Given the description of an element on the screen output the (x, y) to click on. 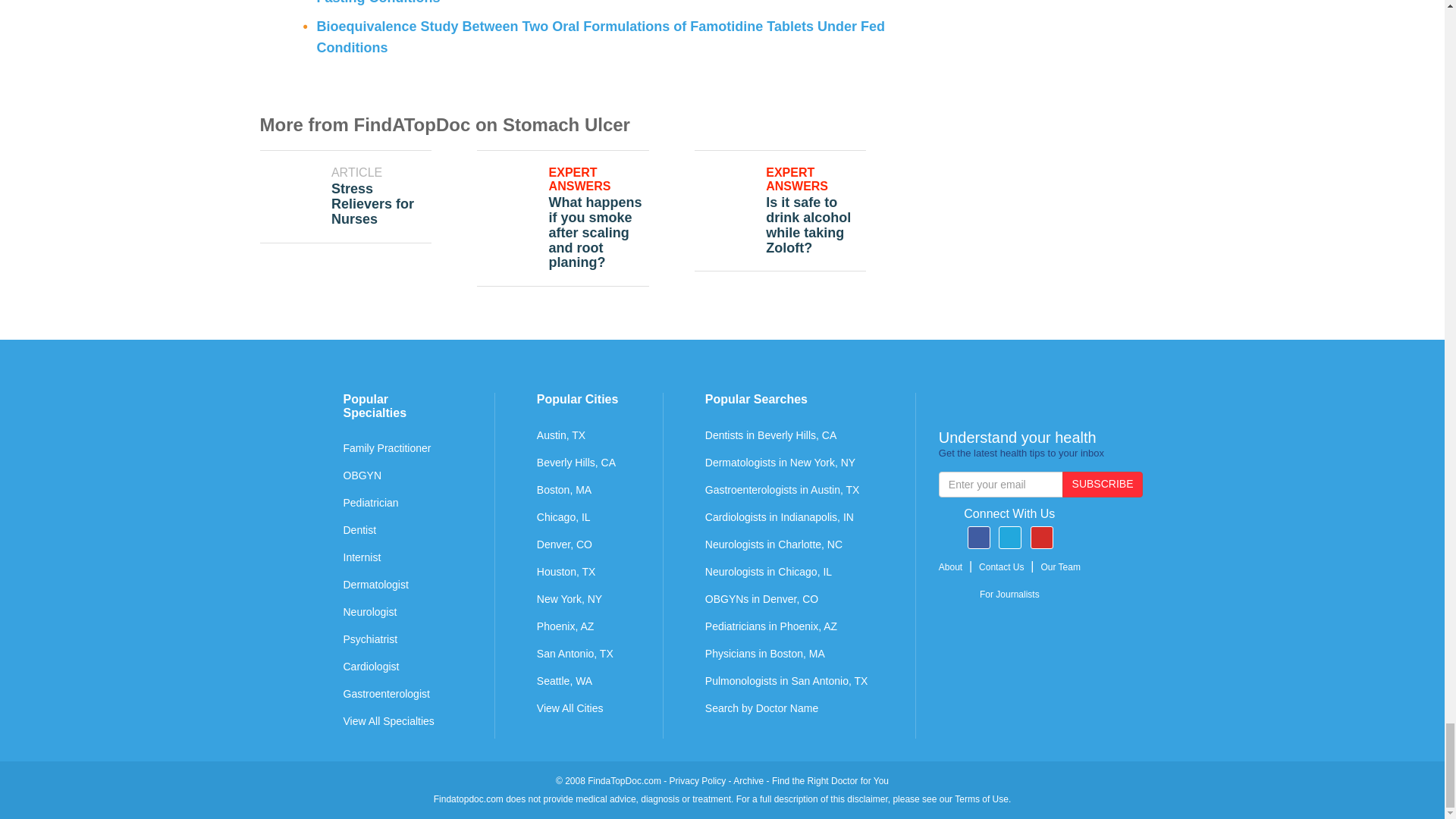
Facebook (979, 537)
Youtube (1041, 537)
SUBSCRIBE (1102, 484)
Twitter (1010, 537)
